Given the description of an element on the screen output the (x, y) to click on. 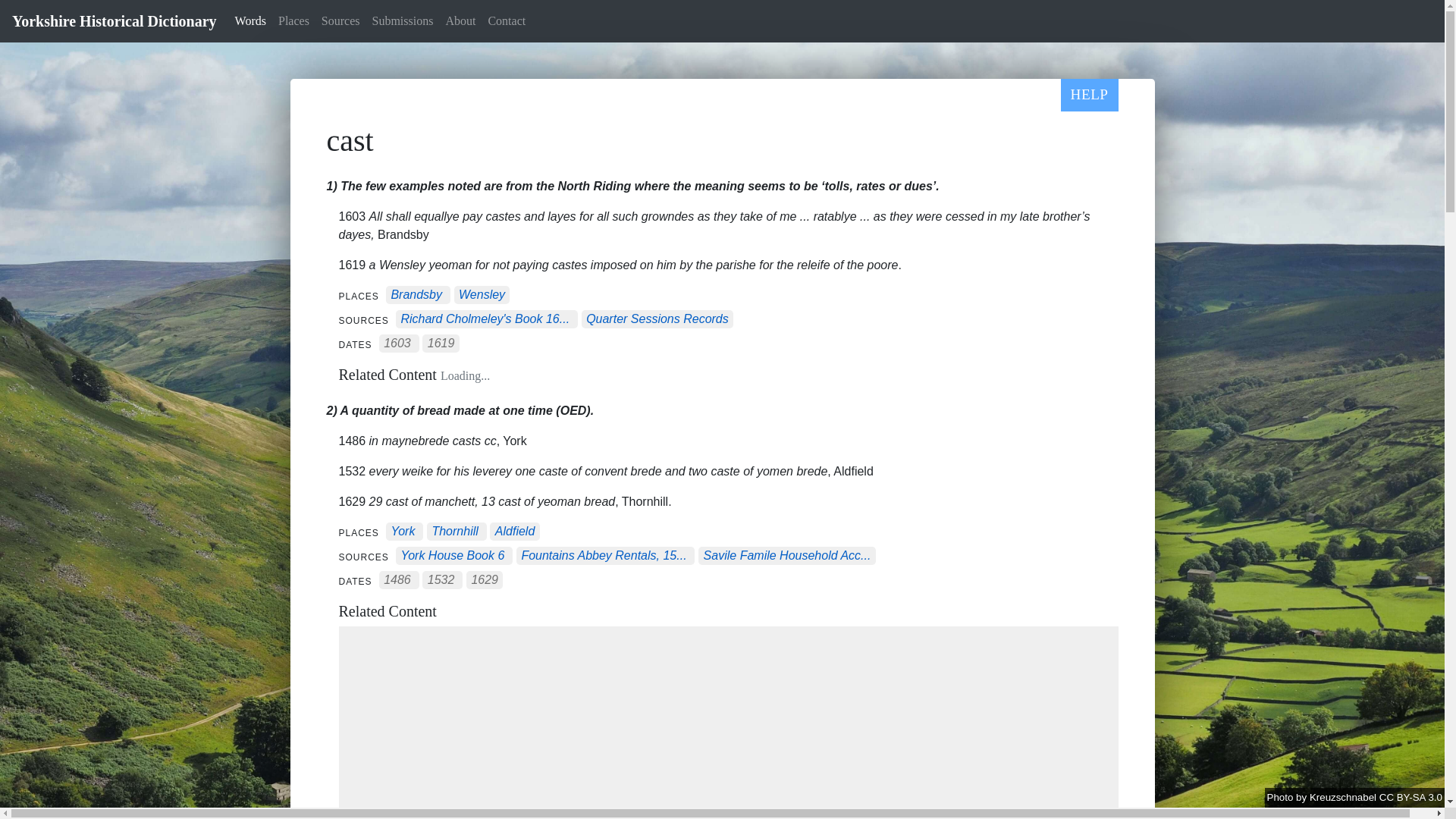
Sources (340, 20)
Quarter Sessions Records (657, 318)
Contact (506, 20)
Savile Famile Household Acc... (786, 555)
Submissions (402, 20)
Words (250, 20)
Places (293, 20)
York House Book 6 (451, 555)
Aldfield (514, 531)
Thornhill (453, 531)
